Given the description of an element on the screen output the (x, y) to click on. 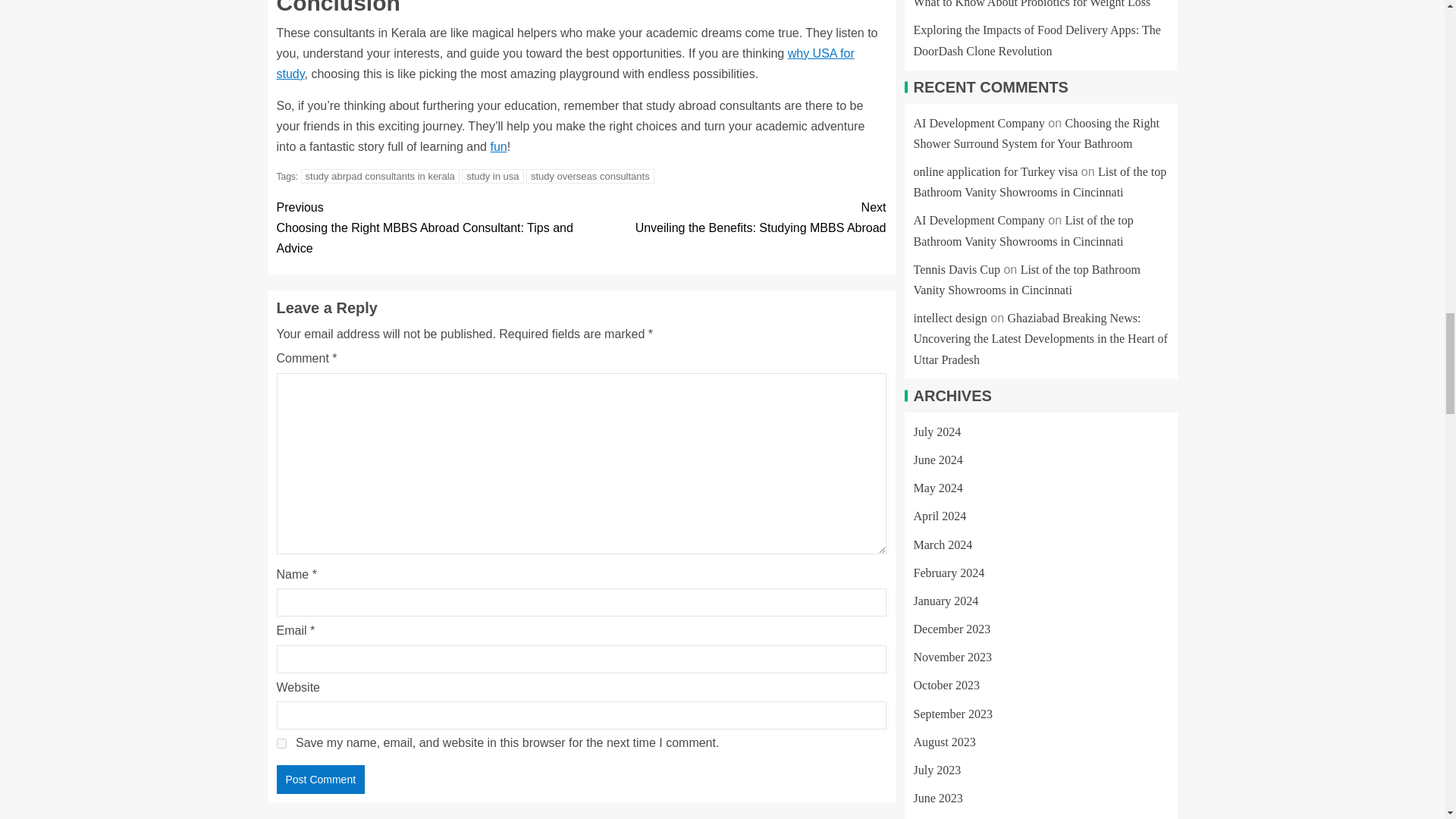
Post Comment (320, 778)
study overseas consultants (589, 175)
Post Comment (320, 778)
fun (497, 146)
yes (280, 743)
why USA for study (564, 63)
study abrpad consultants in kerala (380, 175)
study in usa (491, 175)
